Given the description of an element on the screen output the (x, y) to click on. 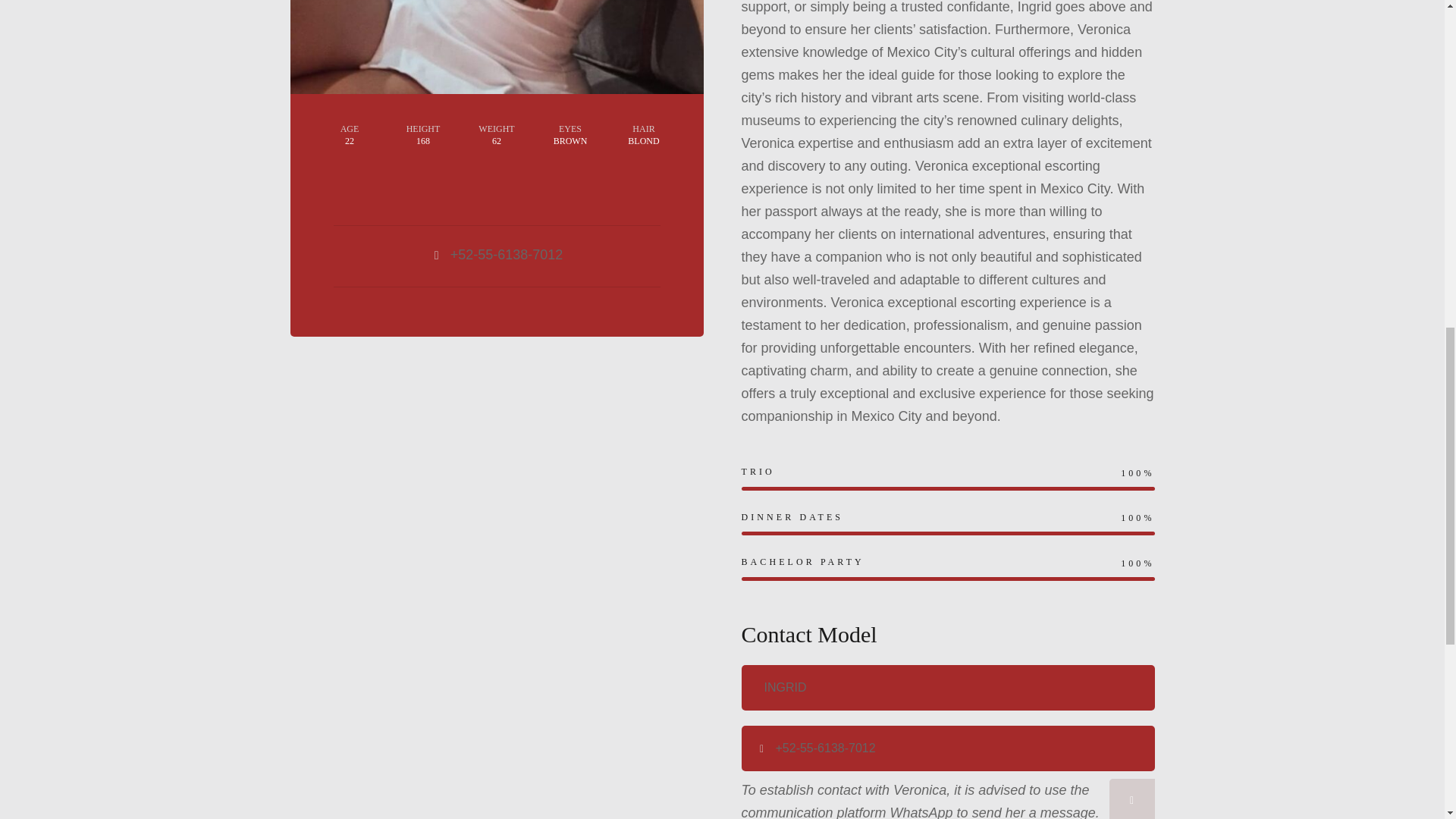
Ingrid (947, 687)
Send (1131, 798)
Send (1131, 798)
